Given the description of an element on the screen output the (x, y) to click on. 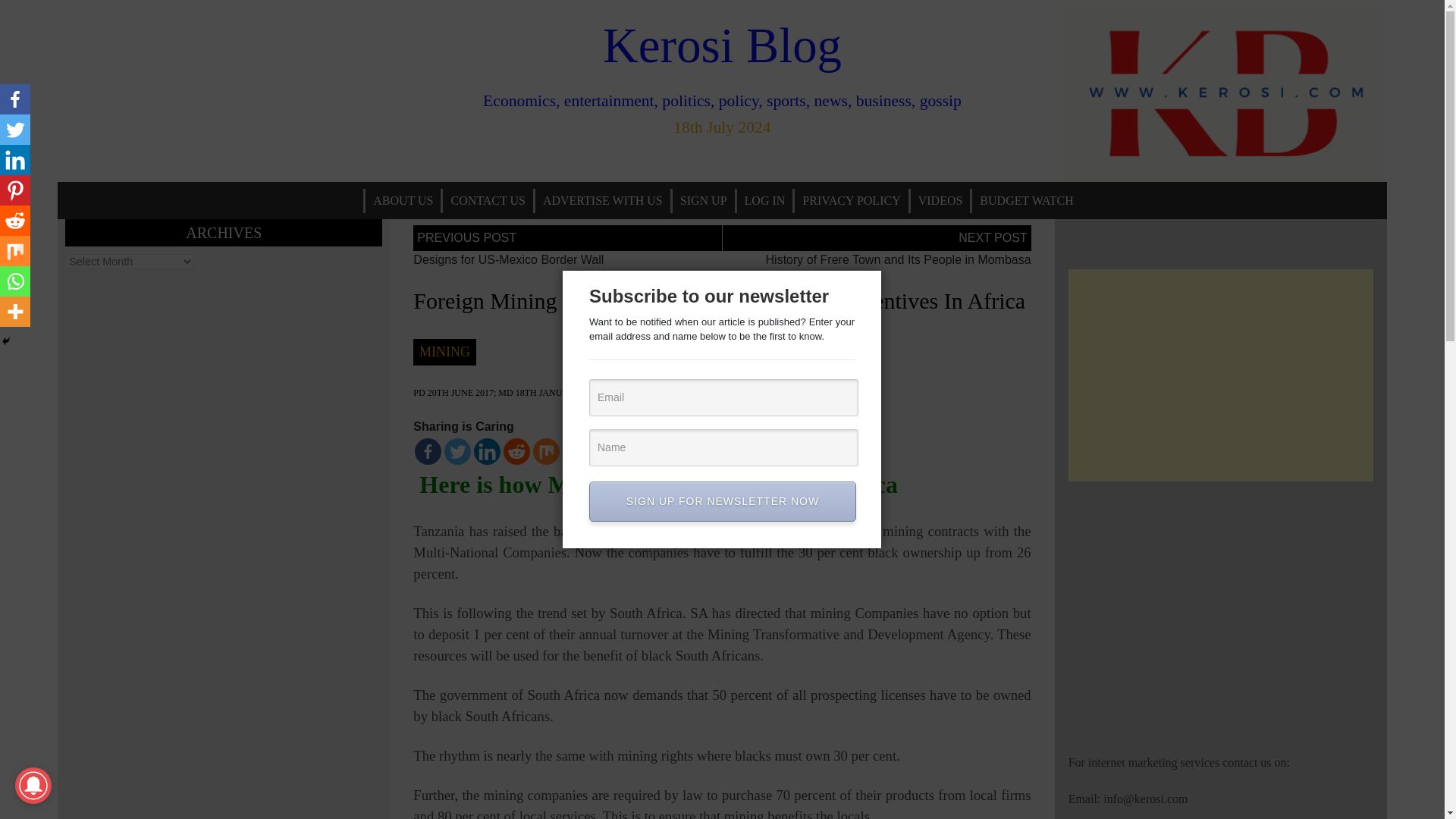
Linkedin (15, 159)
SIGN UP (703, 200)
EDITOR-IN-CHIEF (655, 392)
History of Frere Town and Its People in Mombasa (897, 259)
LOG IN (764, 200)
Reddit (516, 451)
Kerosi Blog (721, 45)
BUDGET WATCH (1026, 200)
Twitter (15, 129)
ABOUT US (403, 200)
Facebook (15, 99)
ADVERTISE WITH US (602, 200)
VIDEOS (941, 200)
Mix (15, 250)
Twitter (457, 451)
